Given the description of an element on the screen output the (x, y) to click on. 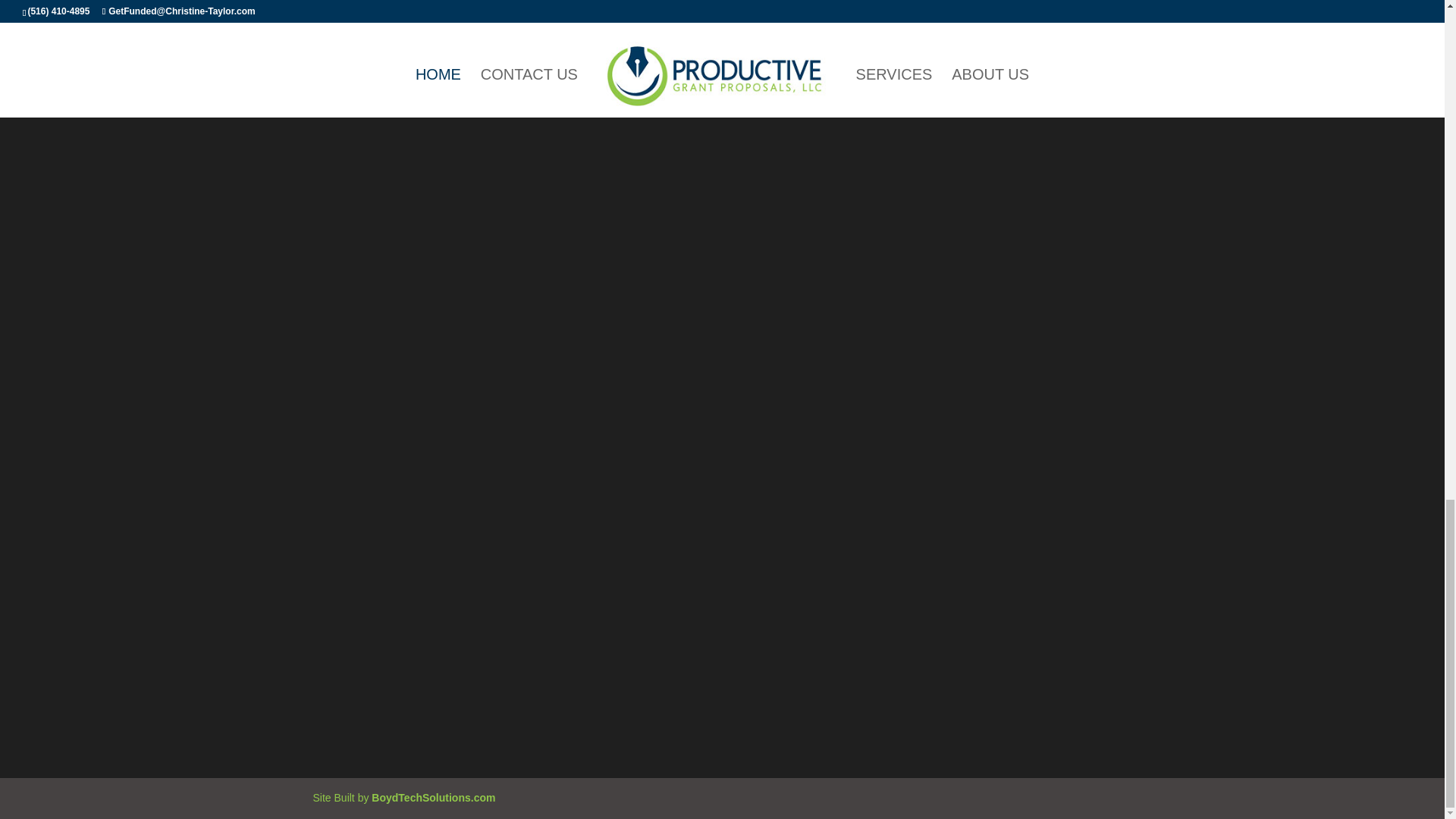
BoydTechSolutions.com (433, 797)
